Given the description of an element on the screen output the (x, y) to click on. 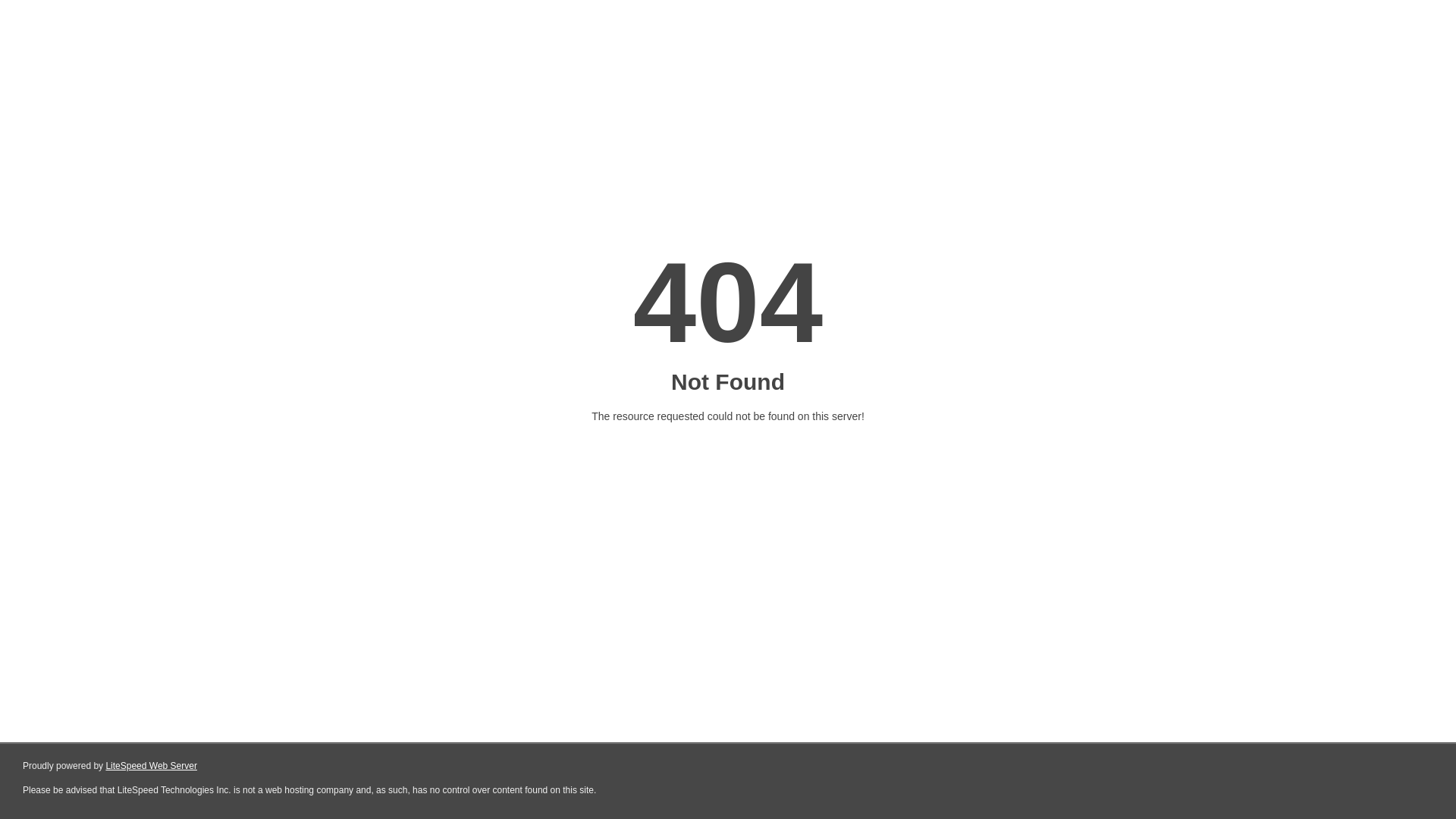
LiteSpeed Web Server Element type: text (151, 765)
